Given the description of an element on the screen output the (x, y) to click on. 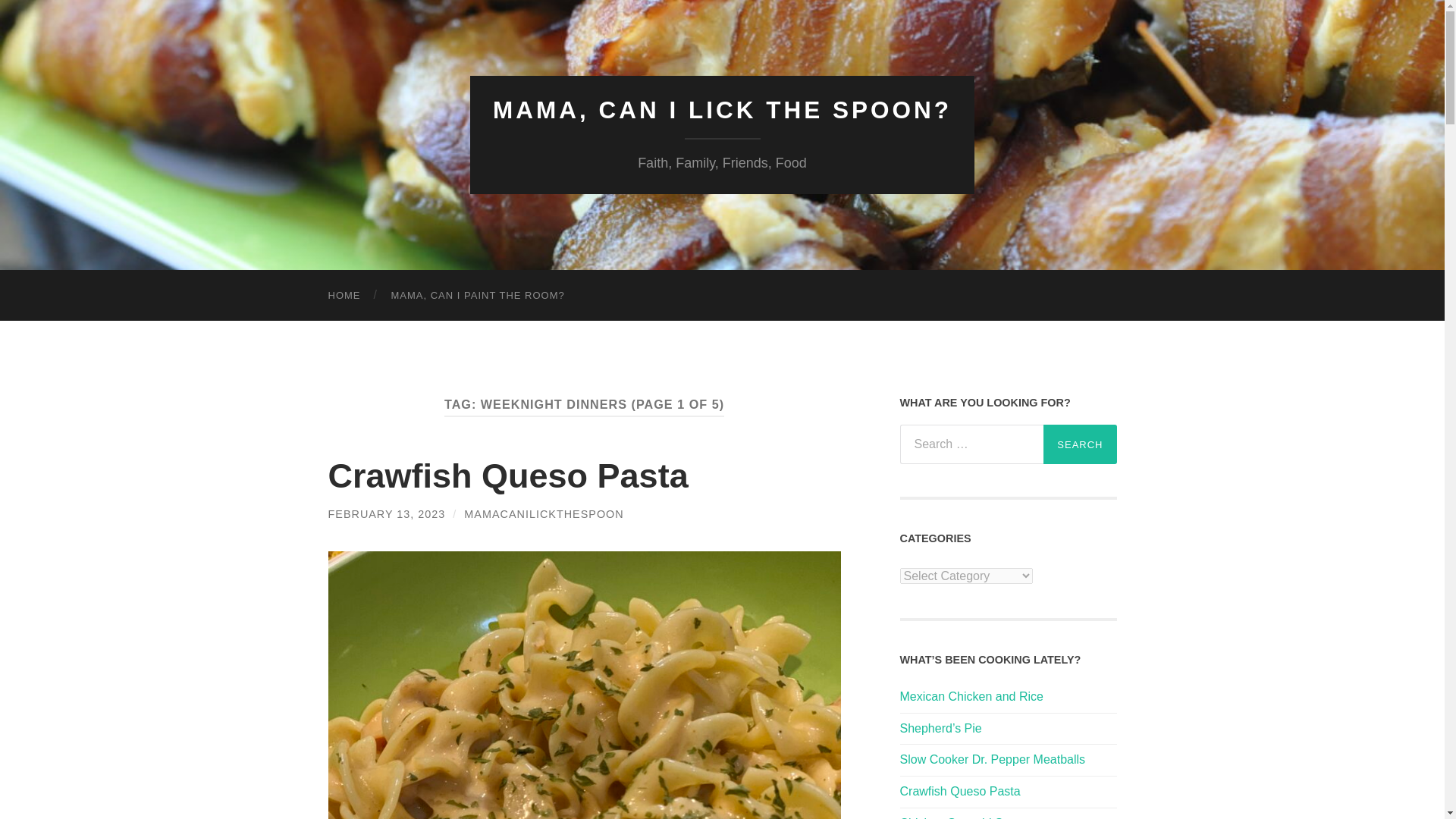
Search (1079, 444)
Search (1079, 444)
Search (1079, 444)
Chicken Gnocchi Soup (1007, 817)
Posts by mamacanilickthespoon (543, 513)
MAMA, CAN I LICK THE SPOON? (722, 109)
MAMACANILICKTHESPOON (543, 513)
FEBRUARY 13, 2023 (386, 513)
MAMA, CAN I PAINT THE ROOM? (477, 295)
Mexican Chicken and Rice (1007, 697)
HOME (344, 295)
Crawfish Queso Pasta (1007, 791)
Slow Cooker Dr. Pepper Meatballs (1007, 760)
Crawfish Queso Pasta (507, 475)
